Given the description of an element on the screen output the (x, y) to click on. 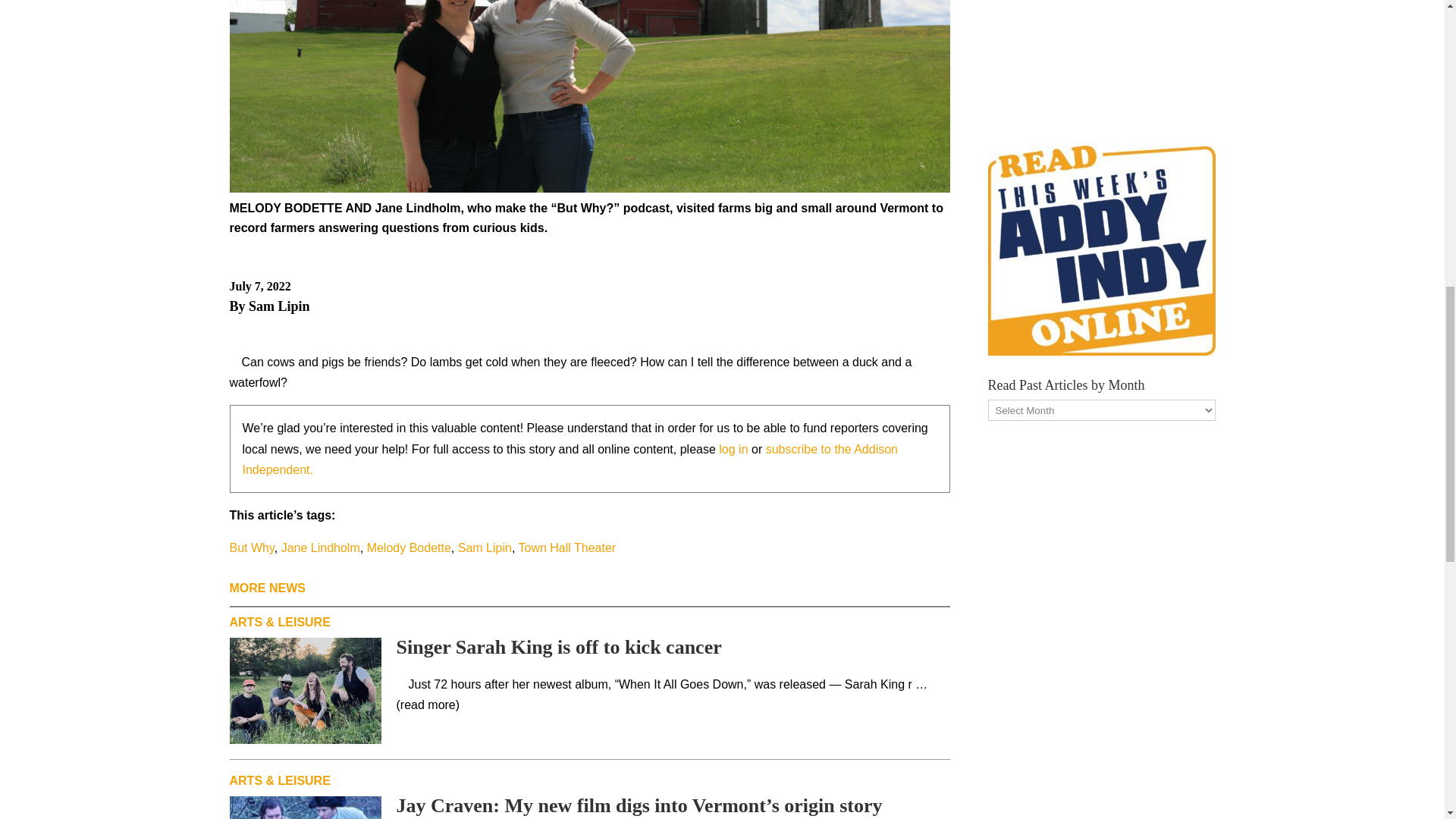
3rd party ad content (1100, 52)
